Given the description of an element on the screen output the (x, y) to click on. 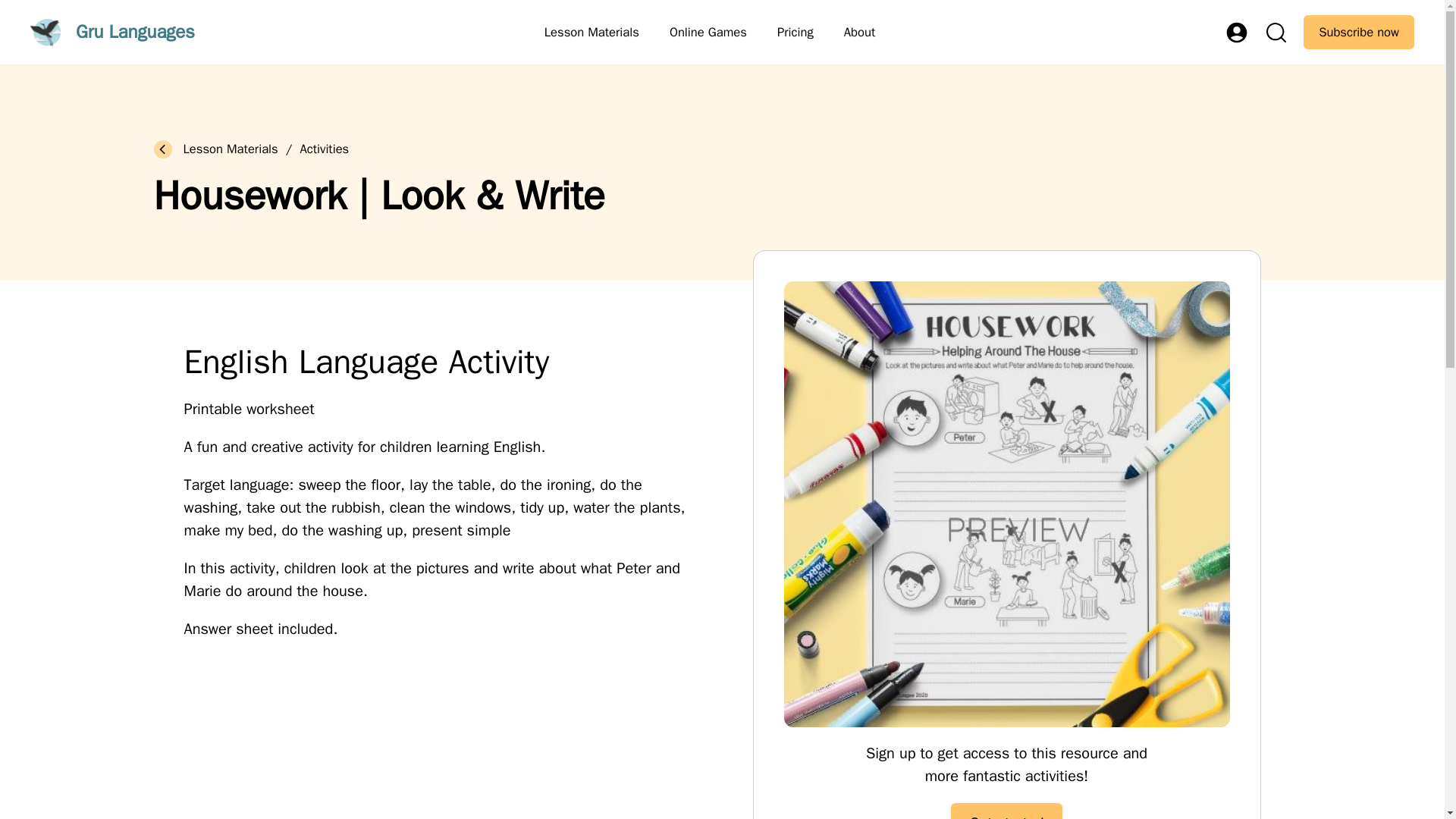
Lesson Materials (230, 149)
Pricing (795, 32)
About (860, 32)
Subscribe now (1358, 32)
Gru Languages (112, 32)
Online Games (707, 32)
Activities (324, 149)
Previous (161, 149)
Lesson Materials (591, 32)
